Given the description of an element on the screen output the (x, y) to click on. 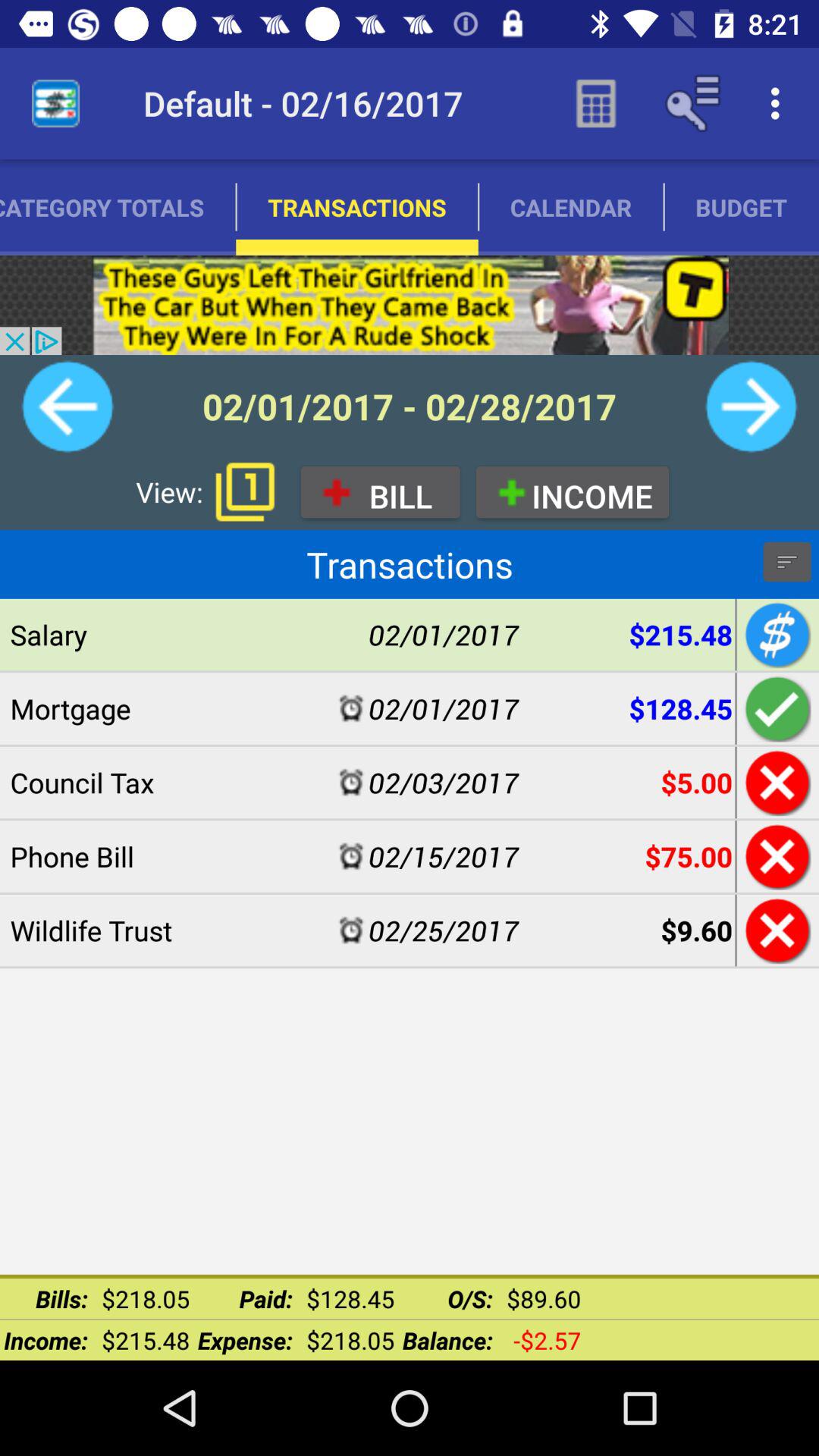
remove transaction (775, 856)
